Given the description of an element on the screen output the (x, y) to click on. 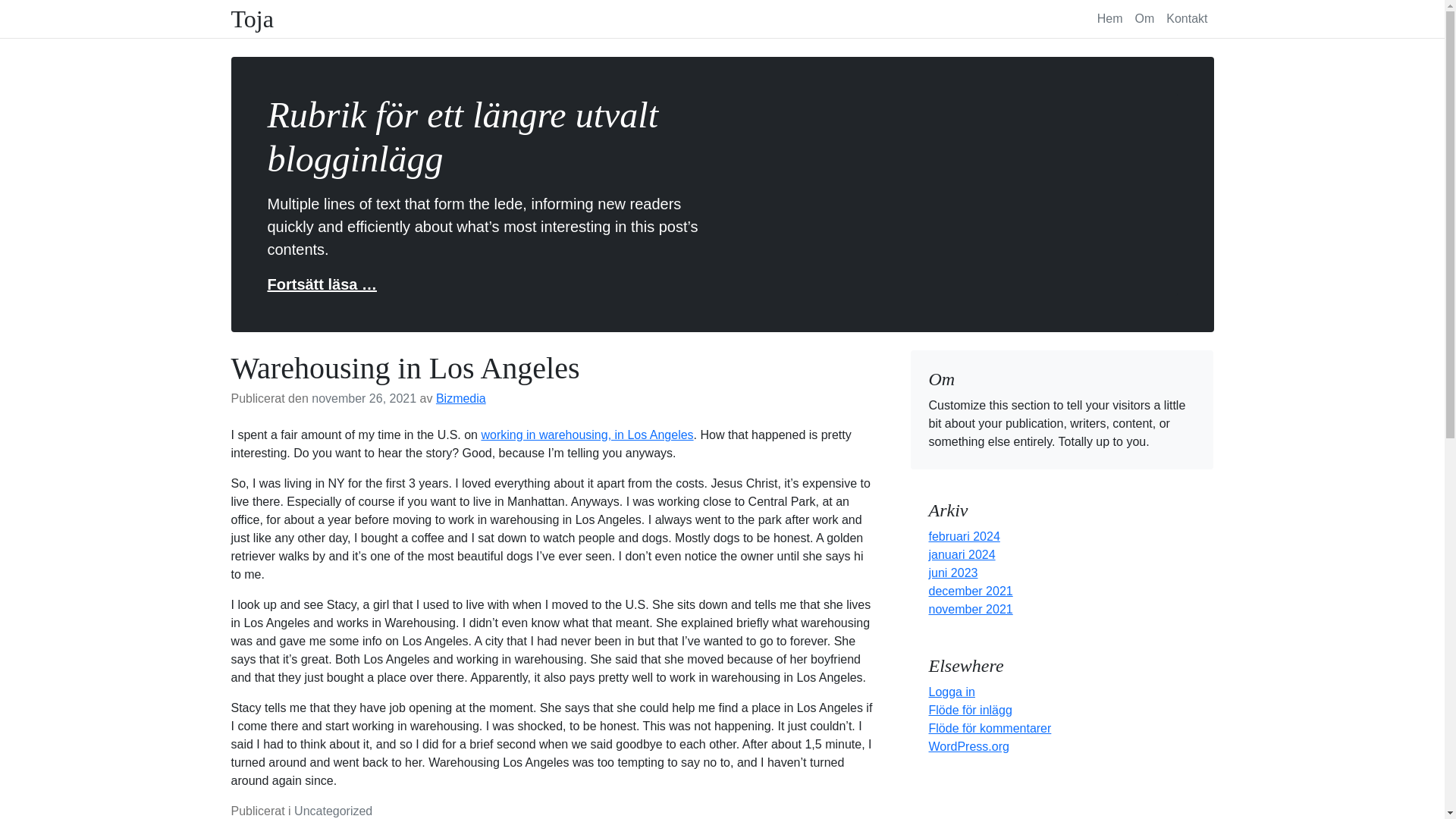
november 26, 2021 (363, 398)
januari 2024 (961, 554)
Hem (1109, 18)
november 2021 (969, 608)
Hem (1109, 18)
Uncategorized (333, 810)
Toja (251, 18)
working in warehousing, in Los Angeles (586, 434)
Kontakt (1186, 18)
Om (1144, 18)
Om (1144, 18)
december 2021 (969, 590)
Logga in (951, 691)
WordPress.org (968, 746)
juni 2023 (952, 572)
